Given the description of an element on the screen output the (x, y) to click on. 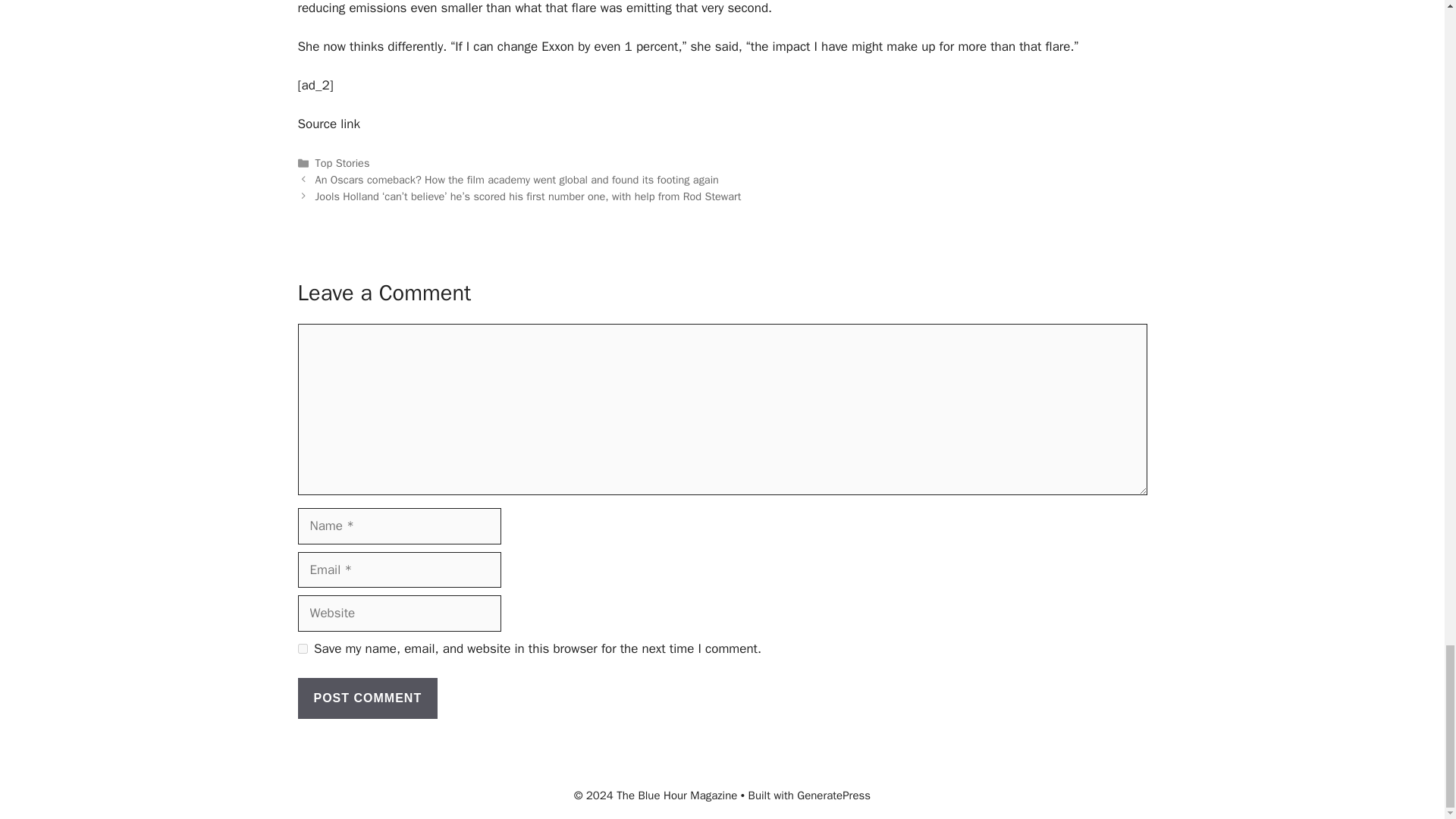
Source link (328, 123)
Post Comment (367, 698)
GeneratePress (833, 795)
Post Comment (367, 698)
yes (302, 648)
Top Stories (342, 162)
